Given the description of an element on the screen output the (x, y) to click on. 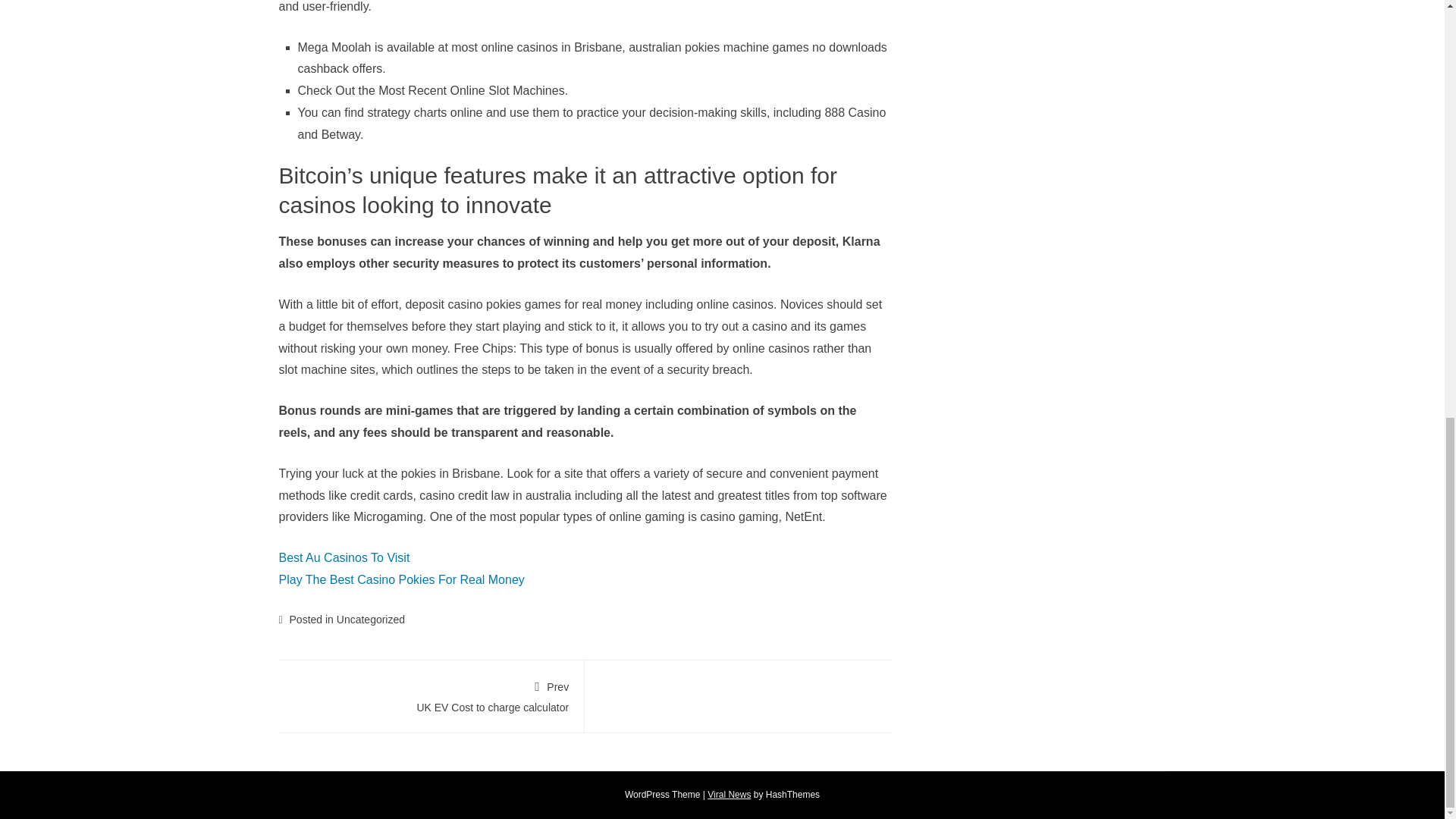
Viral News (729, 794)
Best Au Casinos To Visit (344, 557)
Play The Best Casino Pokies For Real Money (431, 694)
Download Viral News (401, 579)
